Given the description of an element on the screen output the (x, y) to click on. 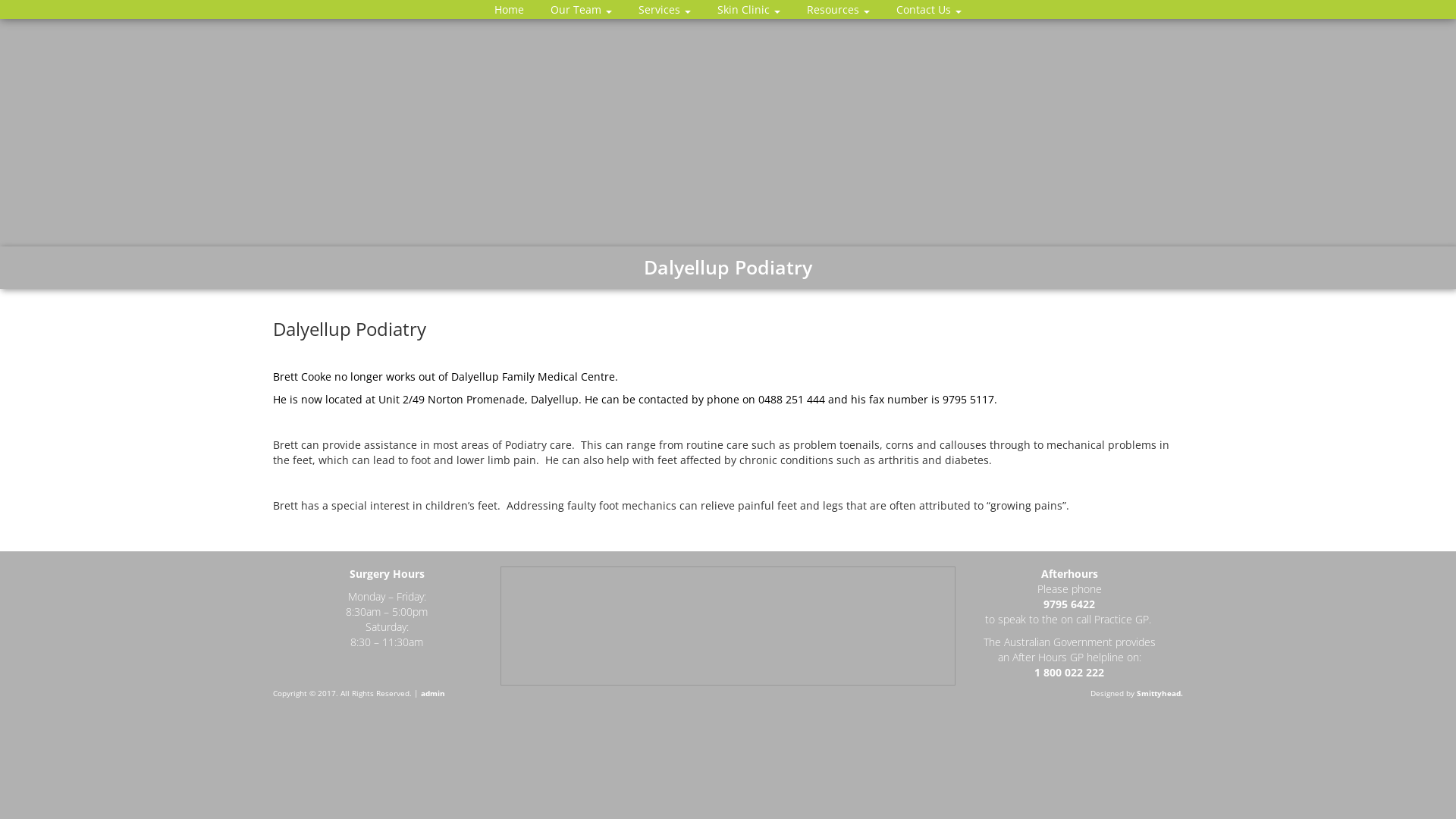
Contact Us Element type: text (928, 9)
Resources Element type: text (838, 9)
Our Team Element type: text (580, 9)
admin Element type: text (432, 692)
Smittyhead. Element type: text (1159, 692)
Services Element type: text (664, 9)
Skin Clinic Element type: text (748, 9)
Home Element type: text (508, 9)
